Given the description of an element on the screen output the (x, y) to click on. 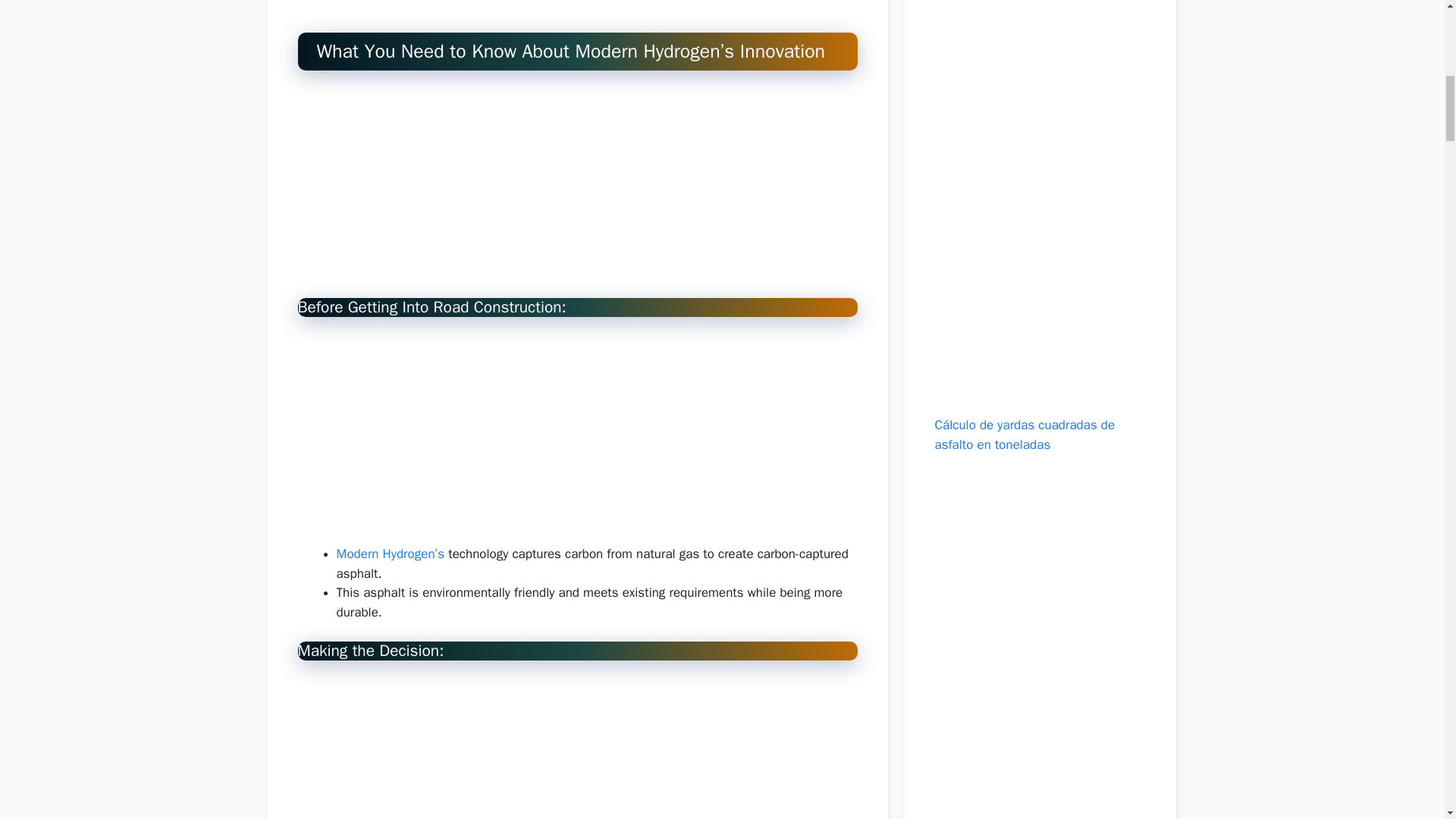
Scroll back to top (1406, 720)
Advertisement (1039, 207)
Advertisement (576, 438)
Advertisement (576, 6)
Advertisement (576, 747)
Advertisement (1039, 640)
Advertisement (576, 191)
